Given the description of an element on the screen output the (x, y) to click on. 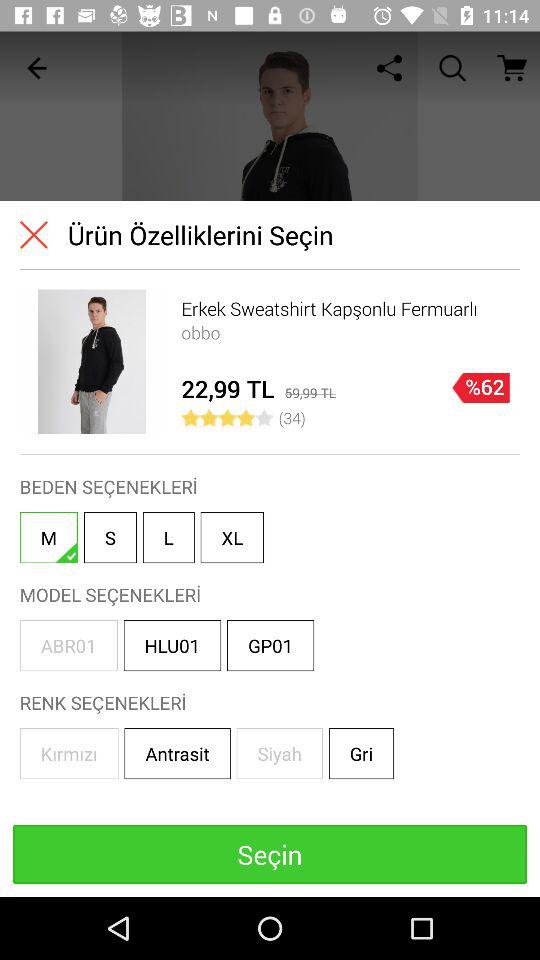
turn off icon next to s icon (168, 537)
